Given the description of an element on the screen output the (x, y) to click on. 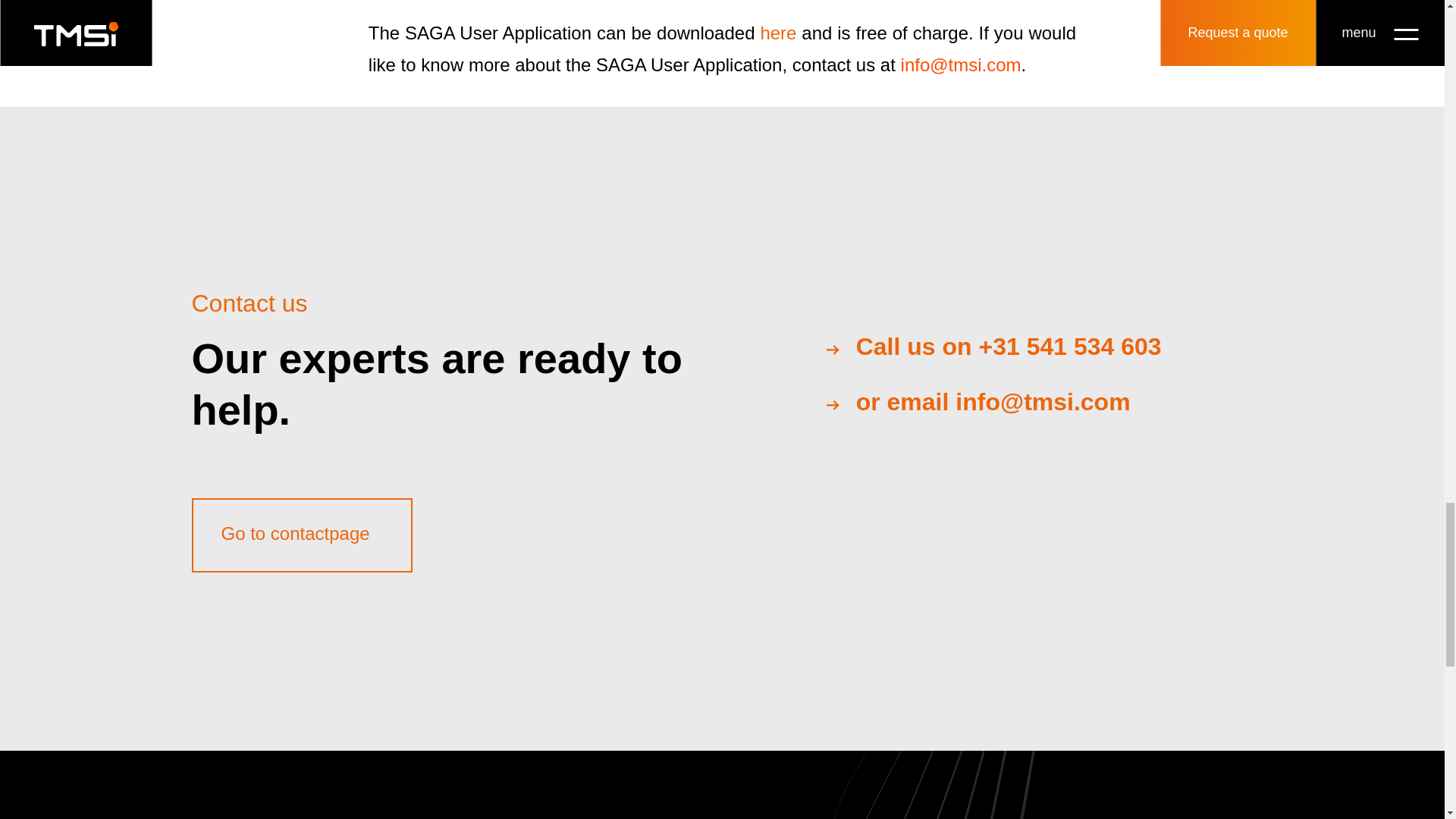
here (778, 32)
Go to contactpage (301, 535)
